Given the description of an element on the screen output the (x, y) to click on. 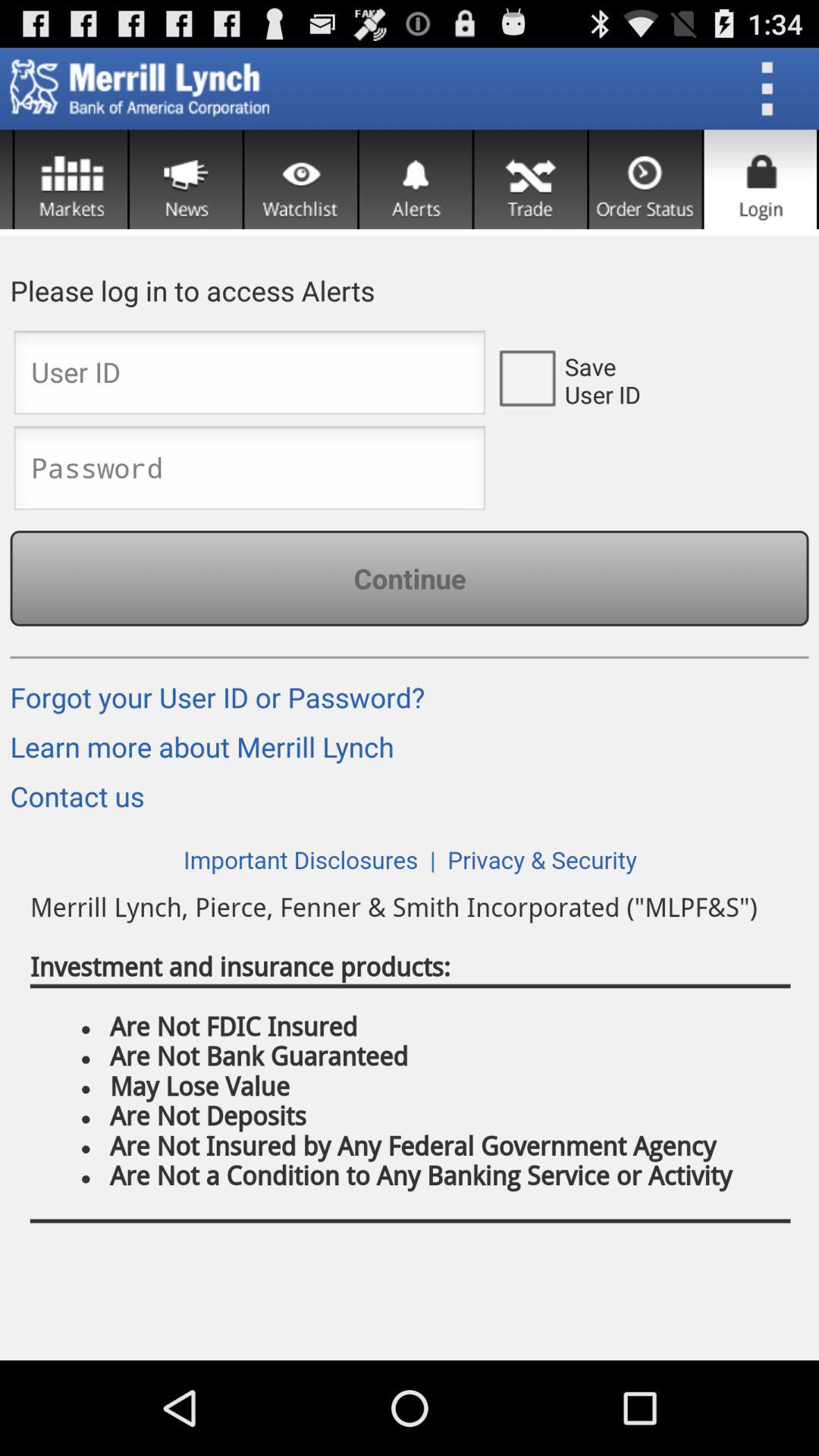
enter password (249, 472)
